Given the description of an element on the screen output the (x, y) to click on. 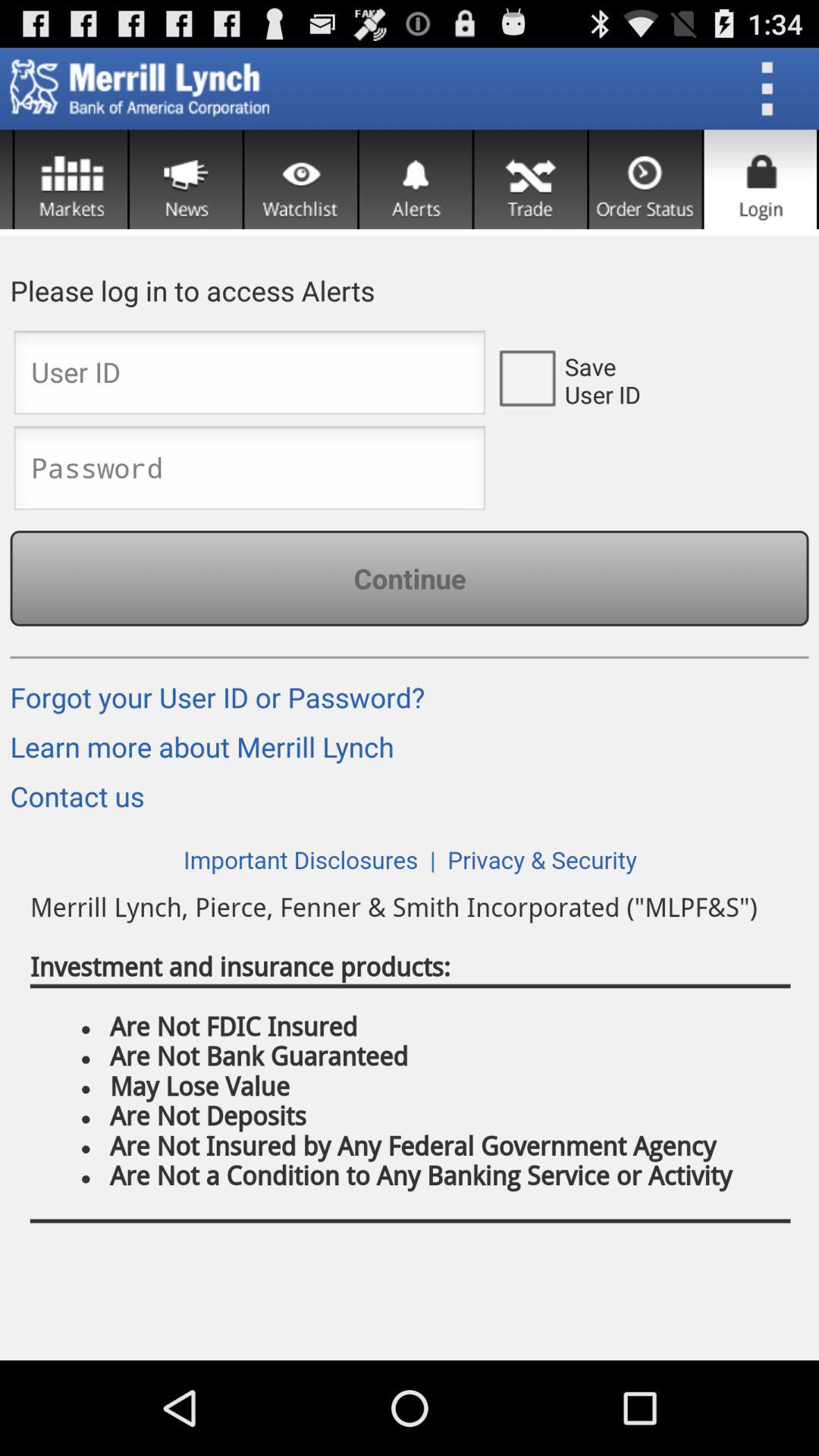
enter password (249, 472)
